Given the description of an element on the screen output the (x, y) to click on. 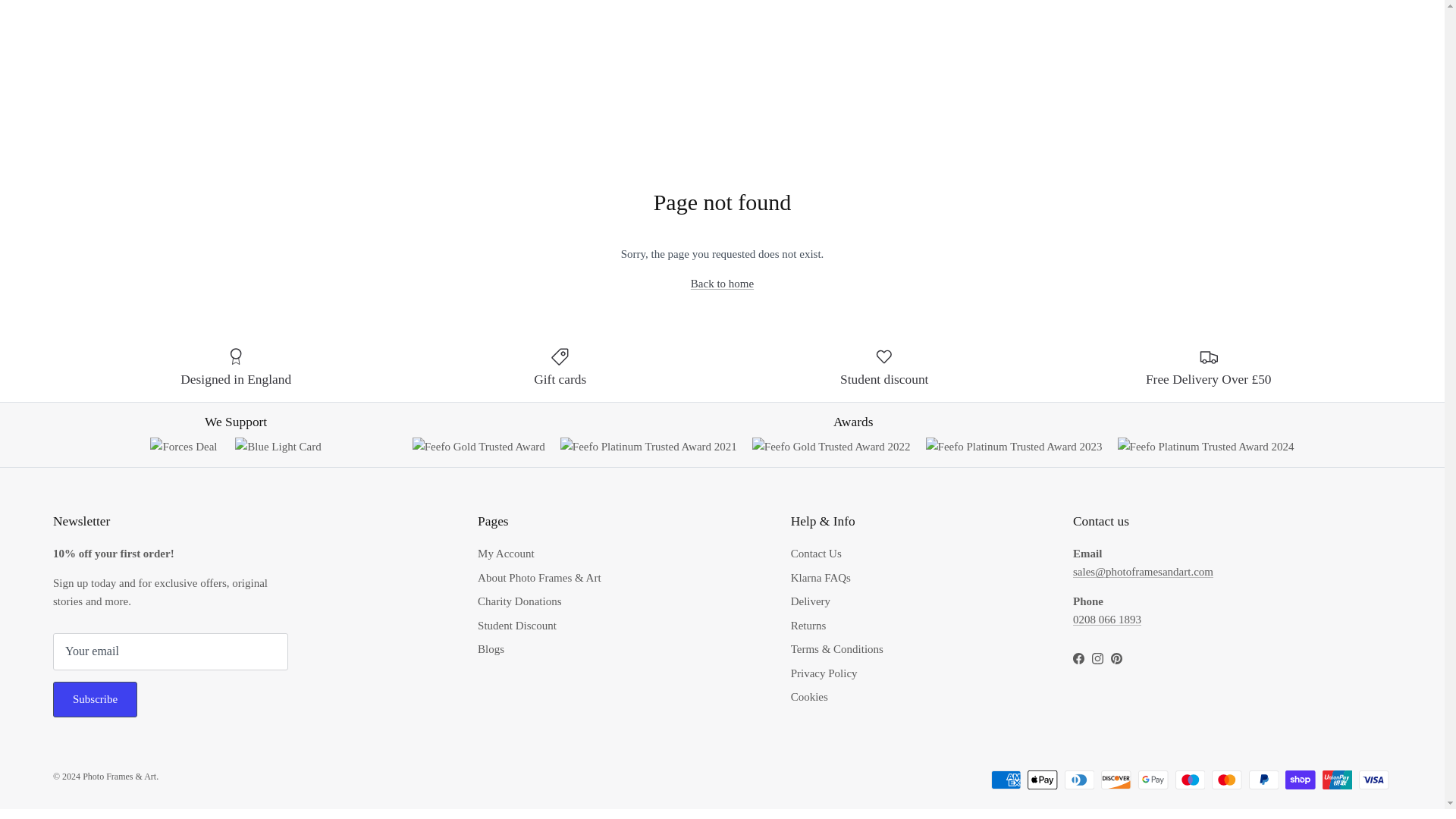
tel:02080661893 (1107, 619)
Maestro (1189, 779)
Diners Club (1079, 779)
Union Pay (1337, 779)
Apple Pay (1042, 779)
PayPal (1263, 779)
Visa (1373, 779)
Google Pay (1152, 779)
Mastercard (1226, 779)
Shop Pay (1299, 779)
Discover (1115, 779)
American Express (1005, 779)
